Given the description of an element on the screen output the (x, y) to click on. 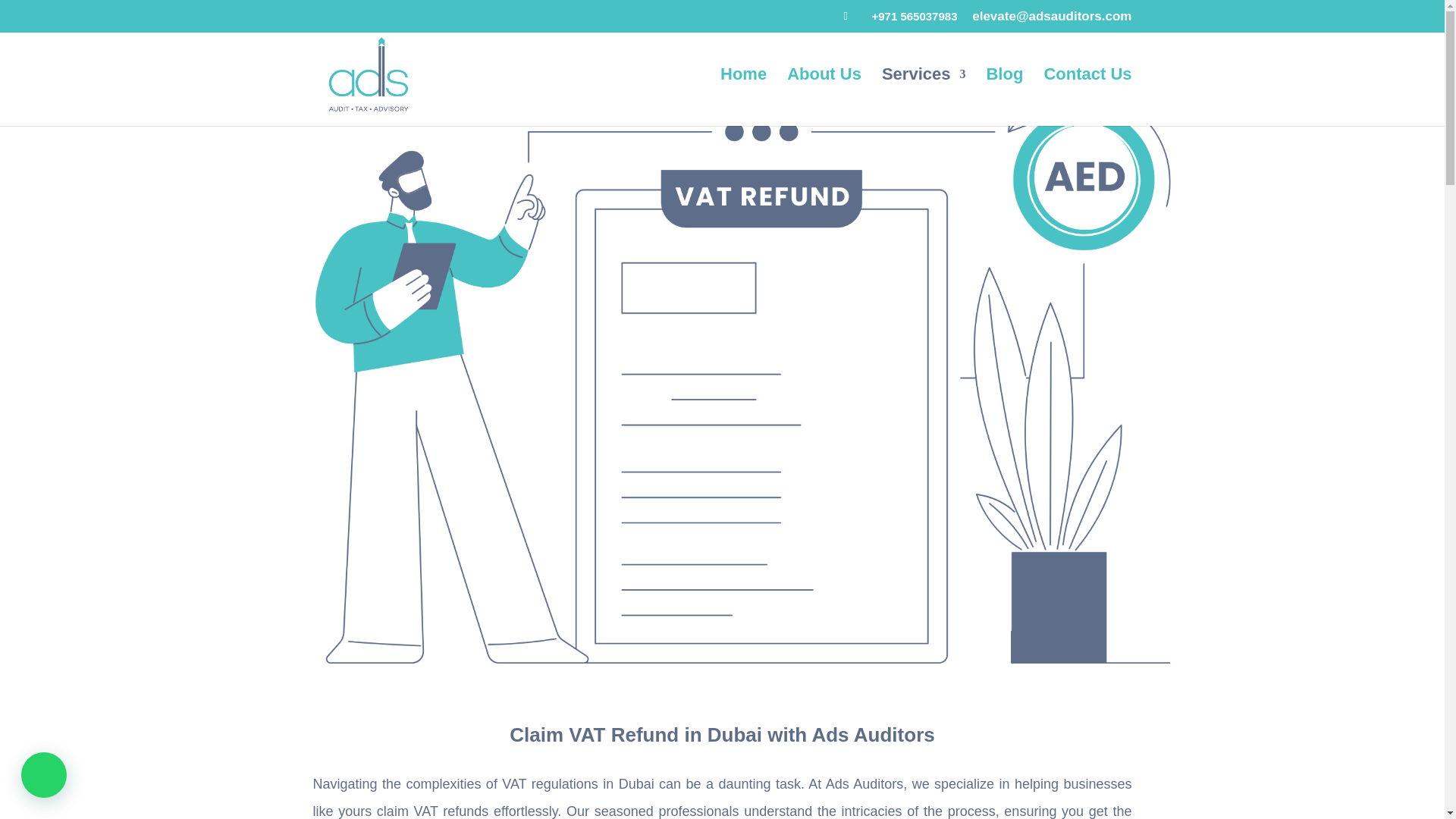
About Us (824, 97)
Contact Us (1087, 97)
Services (924, 97)
